Given the description of an element on the screen output the (x, y) to click on. 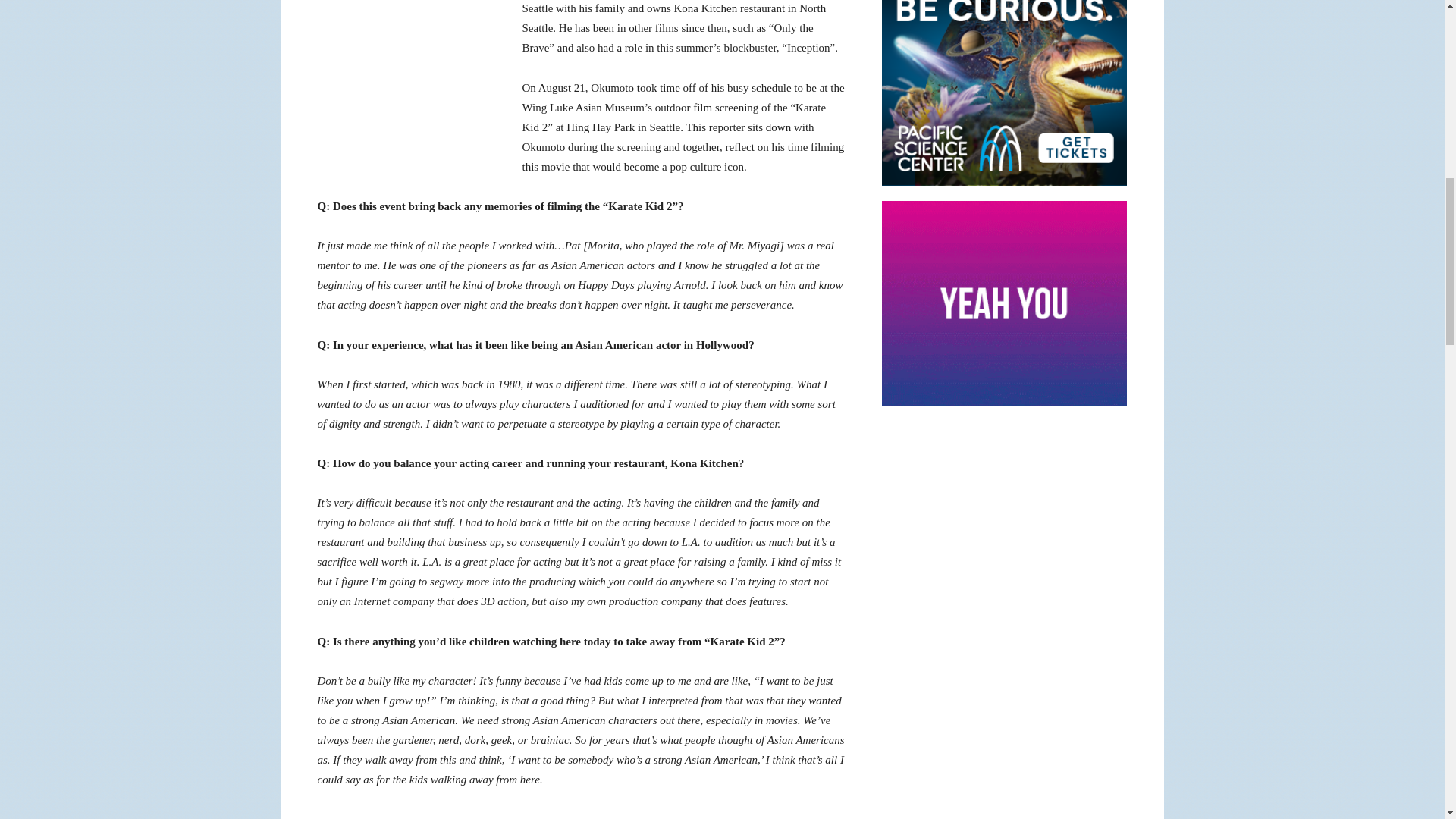
YujiOkumotoKK (410, 85)
